Given the description of an element on the screen output the (x, y) to click on. 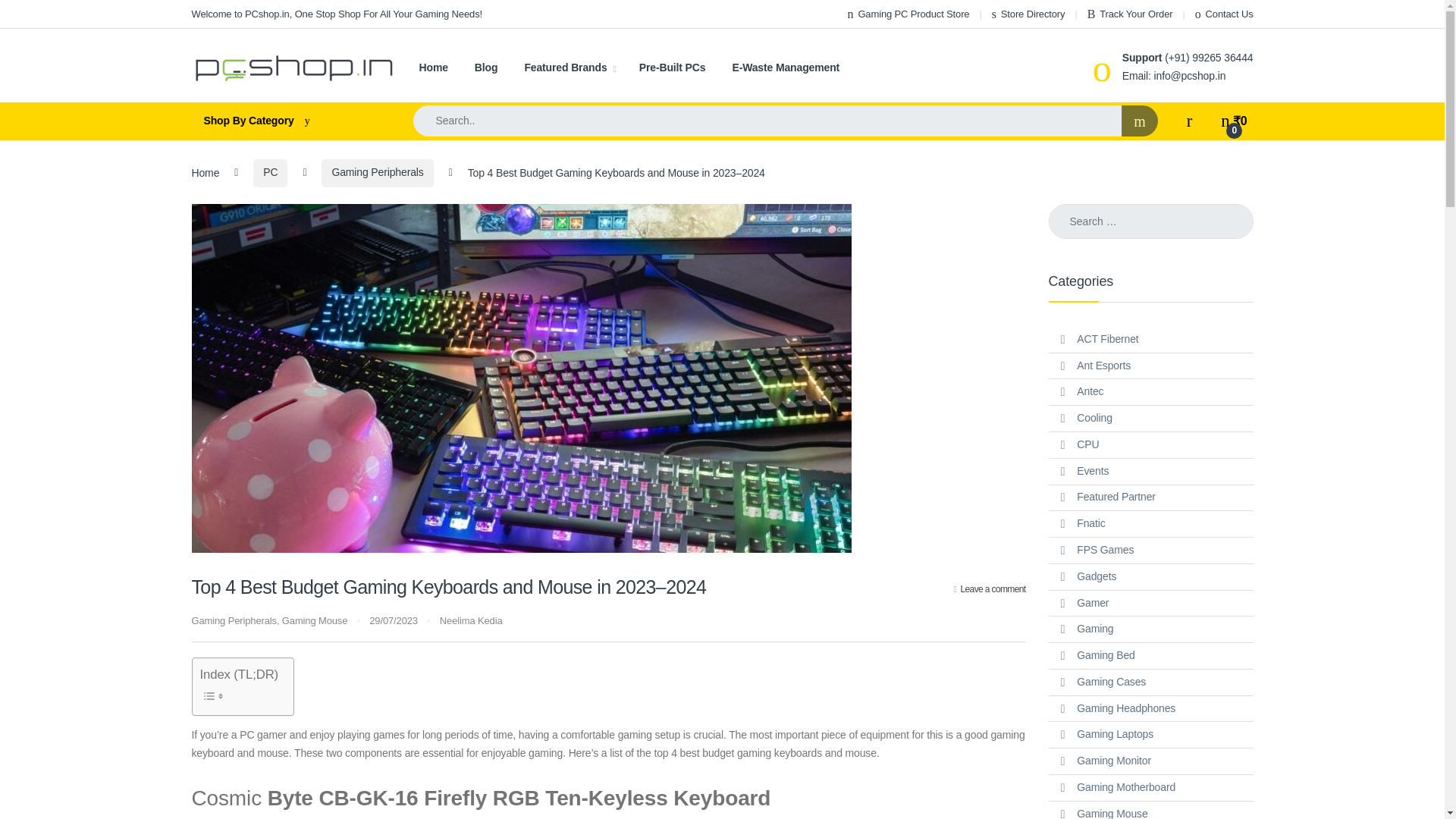
Contact Us (1224, 13)
Track Your Order (1130, 13)
Gaming PC Product Store (908, 13)
Contact Us (1224, 13)
Gaming PC Product Store (908, 13)
Store Directory (1028, 13)
Track Your Order (1130, 13)
Store Directory (1028, 13)
